Given the description of an element on the screen output the (x, y) to click on. 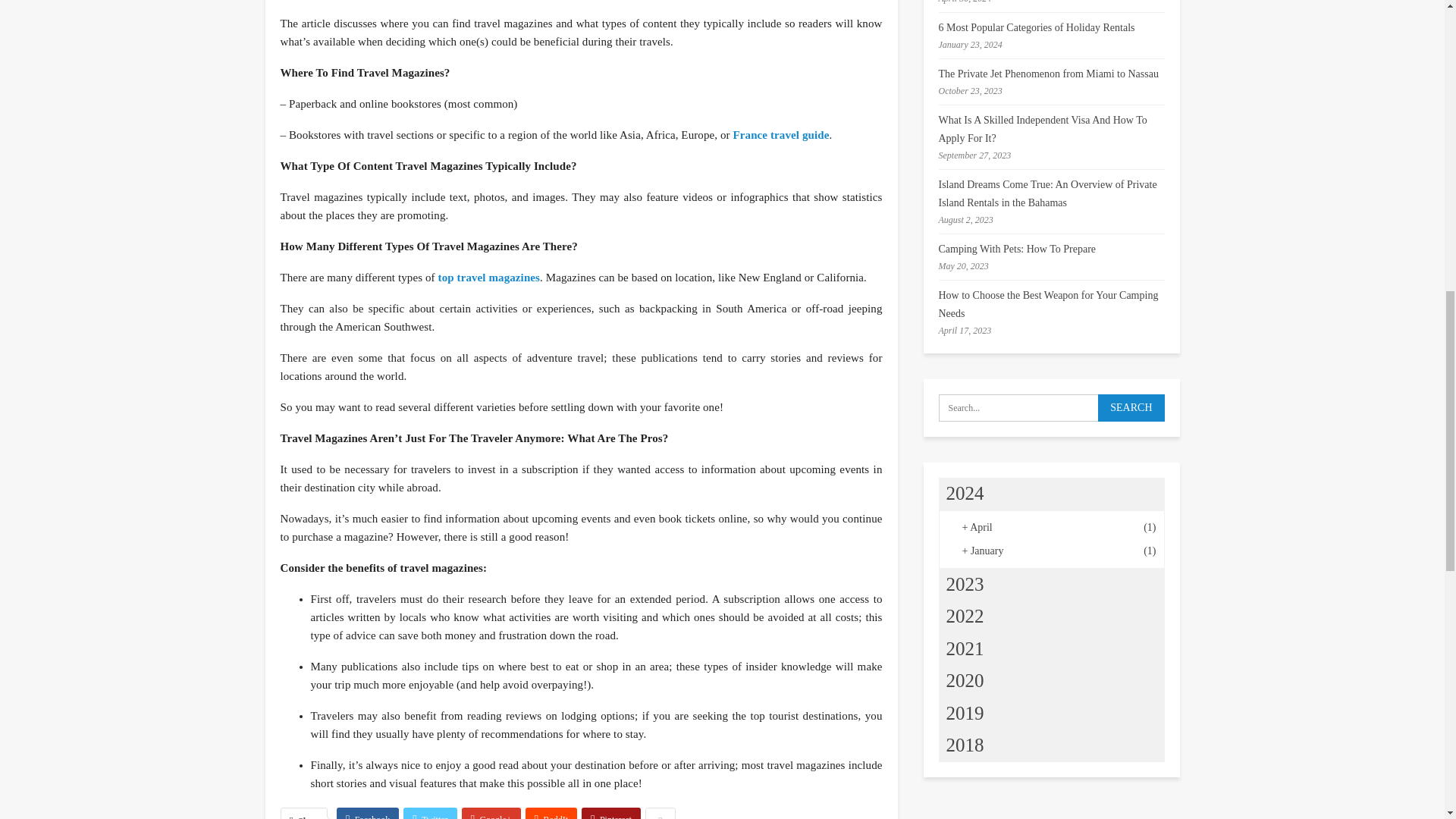
top travel magazines (489, 277)
Facebook (367, 813)
France travel guide (781, 134)
Search (1130, 407)
Twitter (430, 813)
Search (1130, 407)
